Given the description of an element on the screen output the (x, y) to click on. 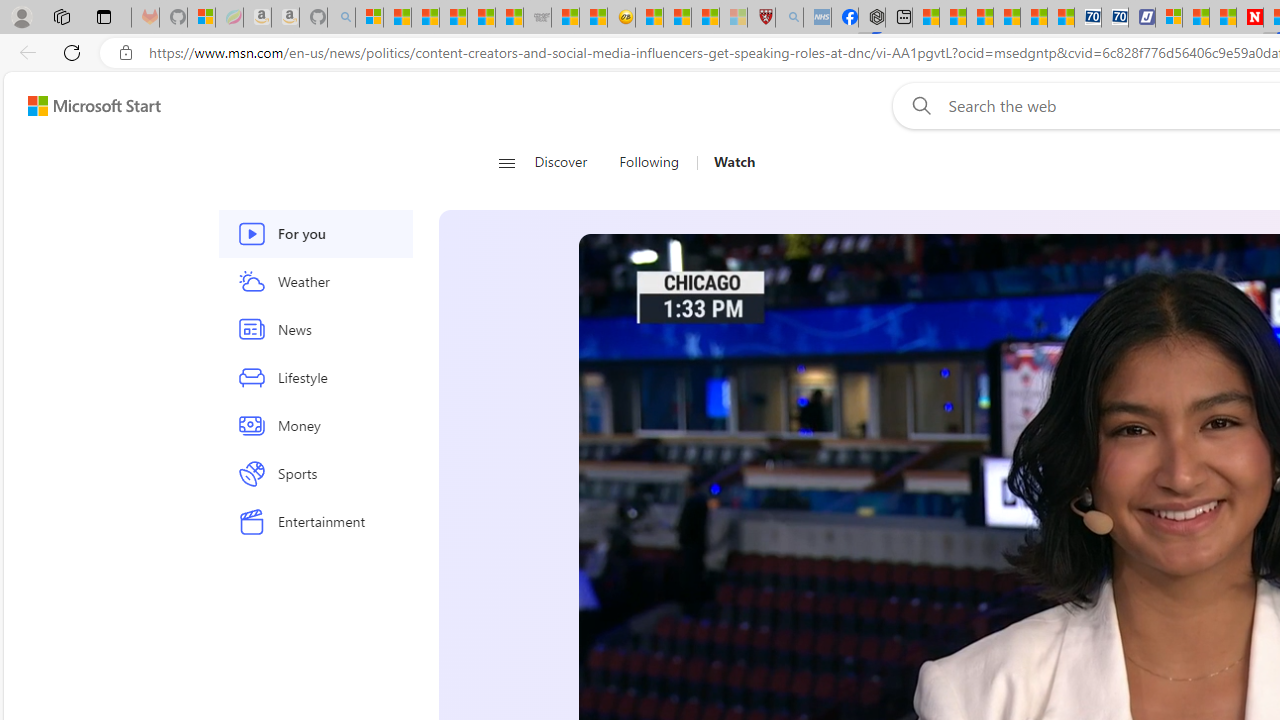
Recipes - MSN (649, 17)
Newsweek - News, Analysis, Politics, Business, Technology (1249, 17)
Open navigation menu (506, 162)
12 Popular Science Lies that Must be Corrected - Sleeping (733, 17)
